Given the description of an element on the screen output the (x, y) to click on. 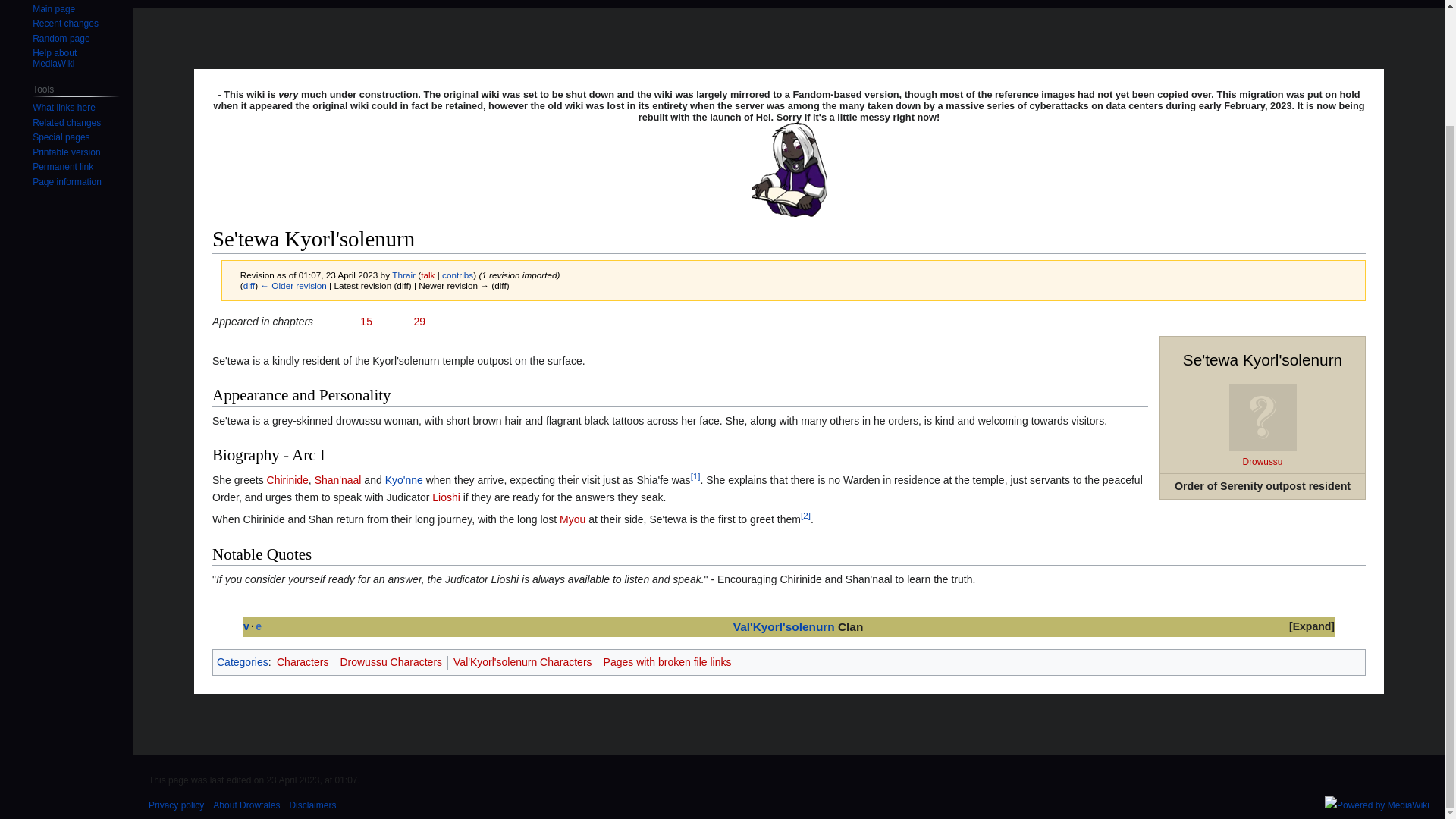
Shan'naal (337, 480)
contribs (457, 275)
Lioshi (446, 497)
diff (248, 285)
15 (365, 321)
Kyo'nne (404, 480)
29 (419, 321)
Val'Kyorl'solenurn (783, 626)
Se'tewa Kyorl'solenurn (293, 285)
Kyo'nne (404, 480)
